Given the description of an element on the screen output the (x, y) to click on. 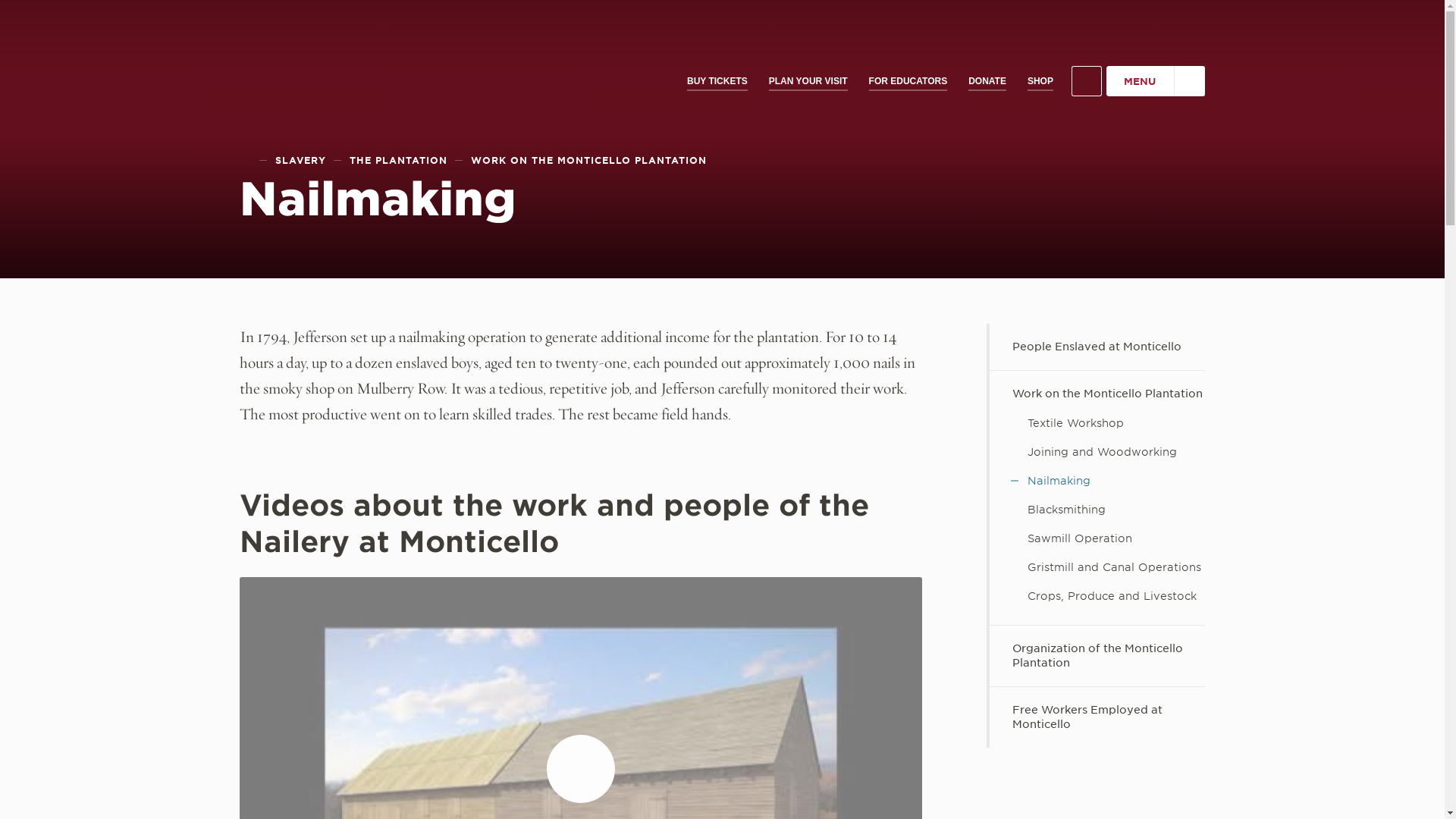
Search (1086, 81)
Nailmaking (1097, 481)
Crops, Produce and Livestock (1097, 596)
Joining and Woodworking (1097, 452)
SLAVERY (300, 160)
Gristmill and Canal Operations (1097, 567)
BUY TICKETS (717, 81)
People Enslaved at Monticello (1097, 346)
Blacksmithing (1097, 510)
Textile Workshop (1097, 423)
